Given the description of an element on the screen output the (x, y) to click on. 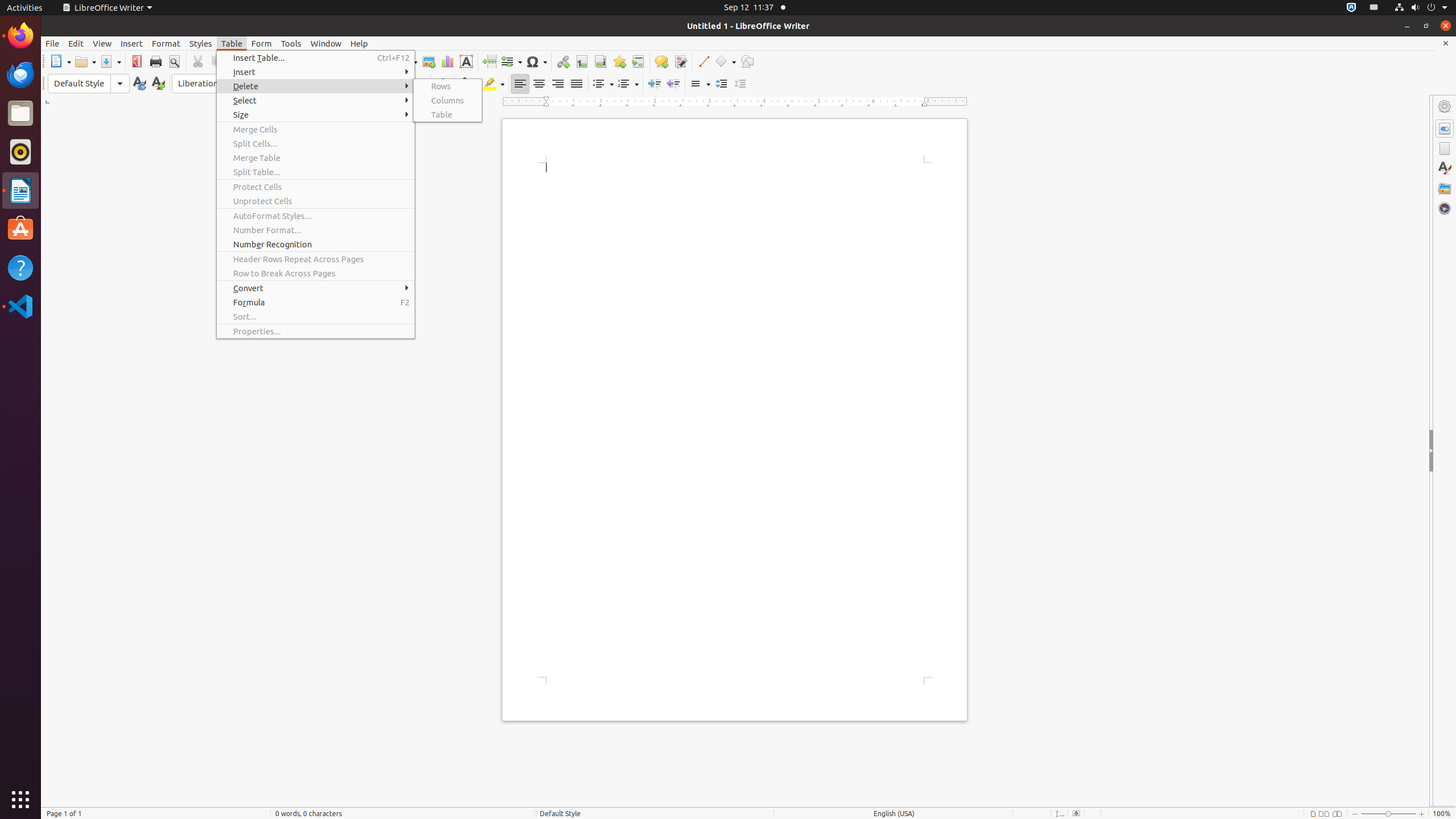
View Element type: menu (102, 43)
Unprotect Cells Element type: menu-item (315, 200)
Table Element type: menu (231, 43)
Table Element type: menu-item (447, 114)
Update Element type: push-button (138, 83)
